Given the description of an element on the screen output the (x, y) to click on. 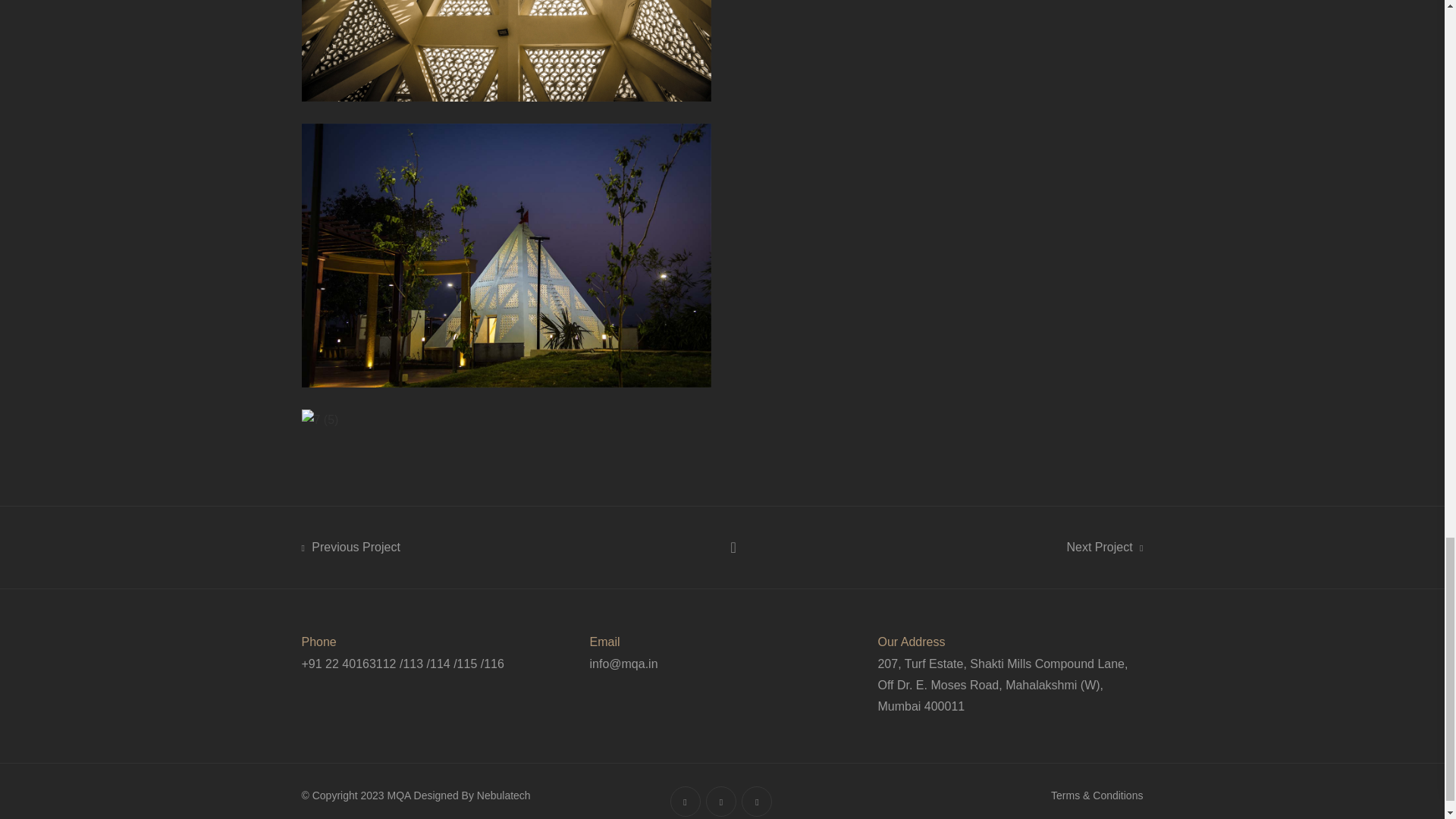
Next Project (1104, 547)
Nebulatech (504, 795)
Previous Project (350, 547)
